Given the description of an element on the screen output the (x, y) to click on. 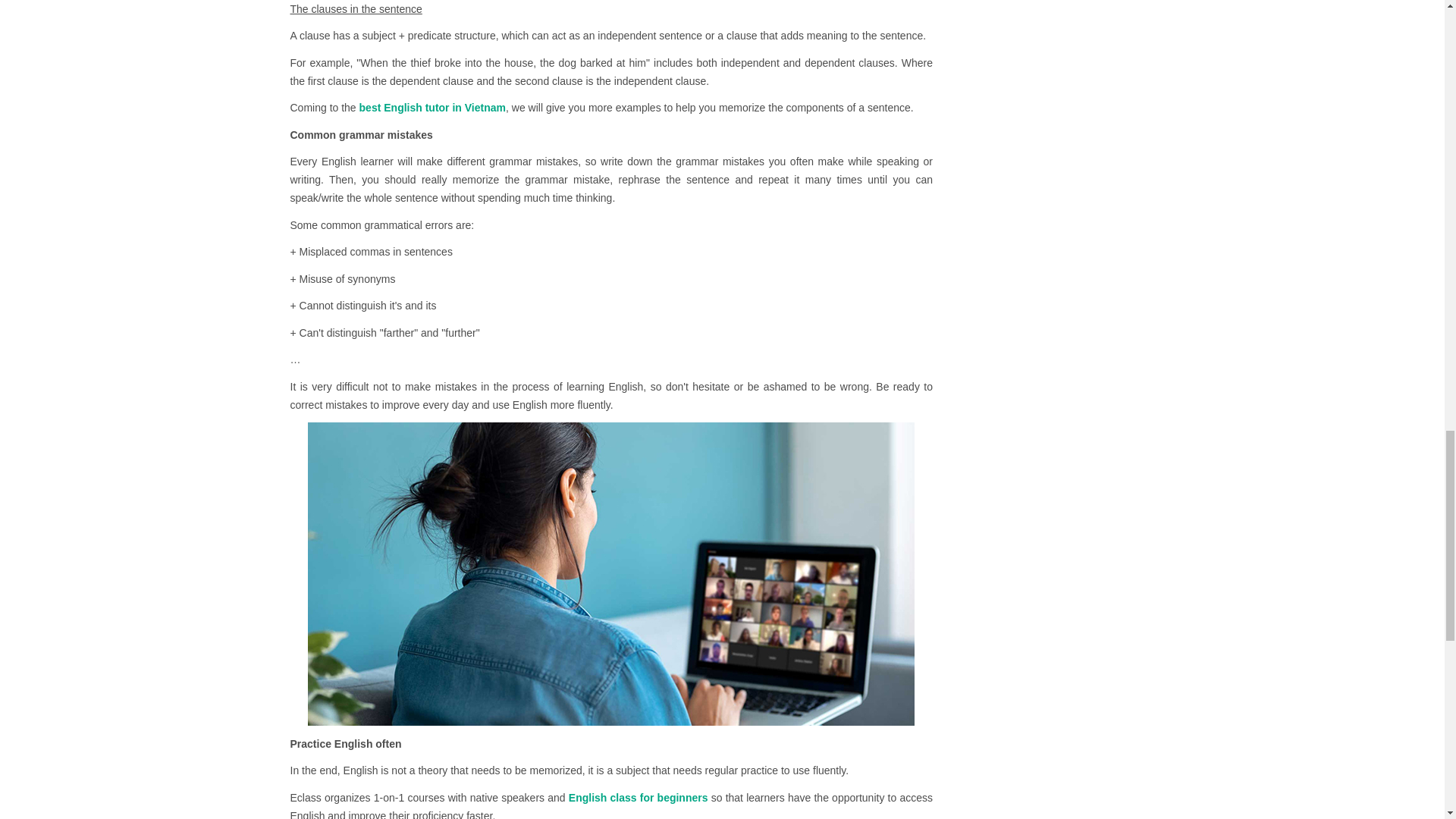
English class for beginners (638, 797)
best English tutor in Vietnam (432, 107)
